Given the description of an element on the screen output the (x, y) to click on. 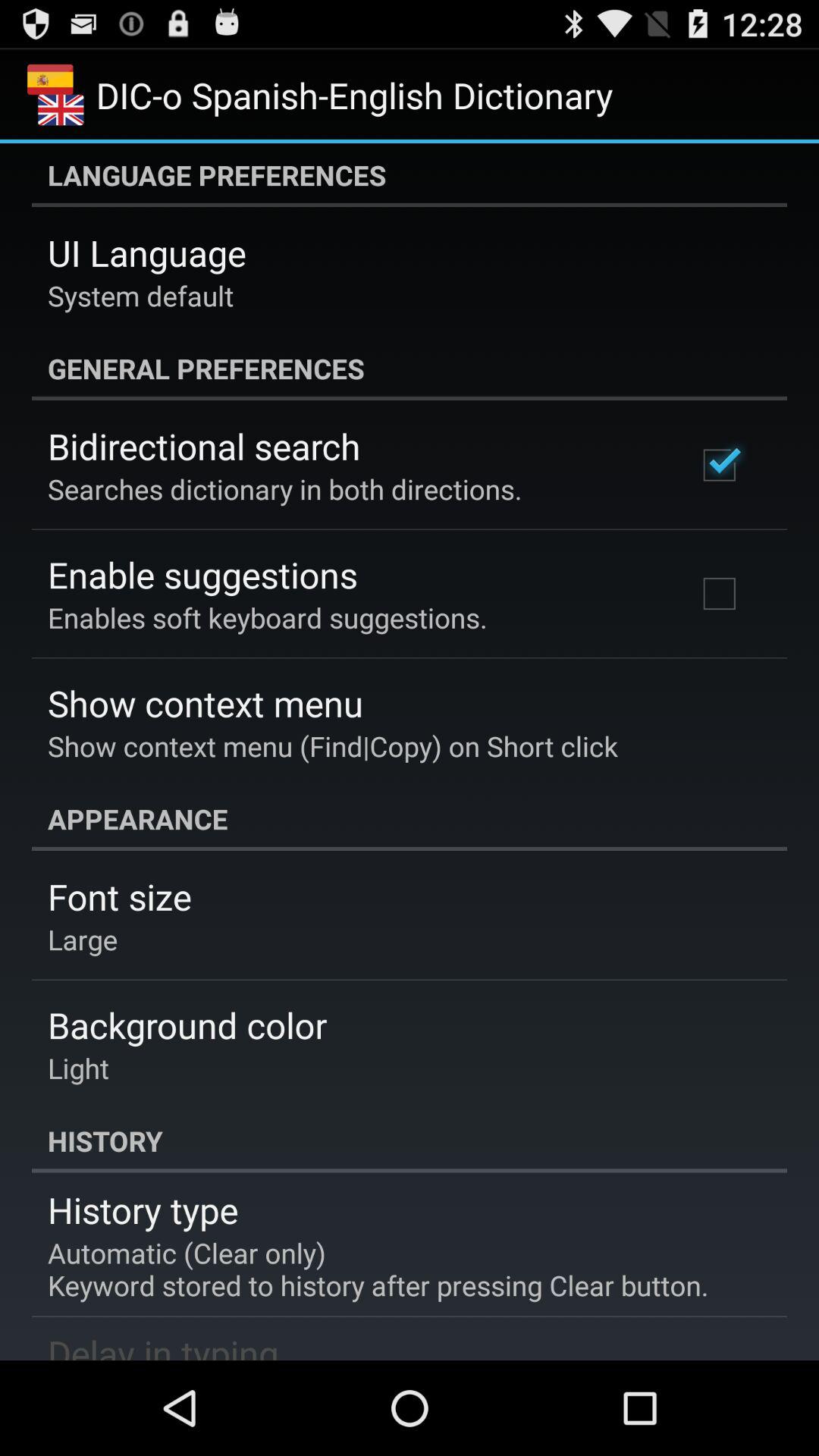
scroll until the large app (82, 939)
